Given the description of an element on the screen output the (x, y) to click on. 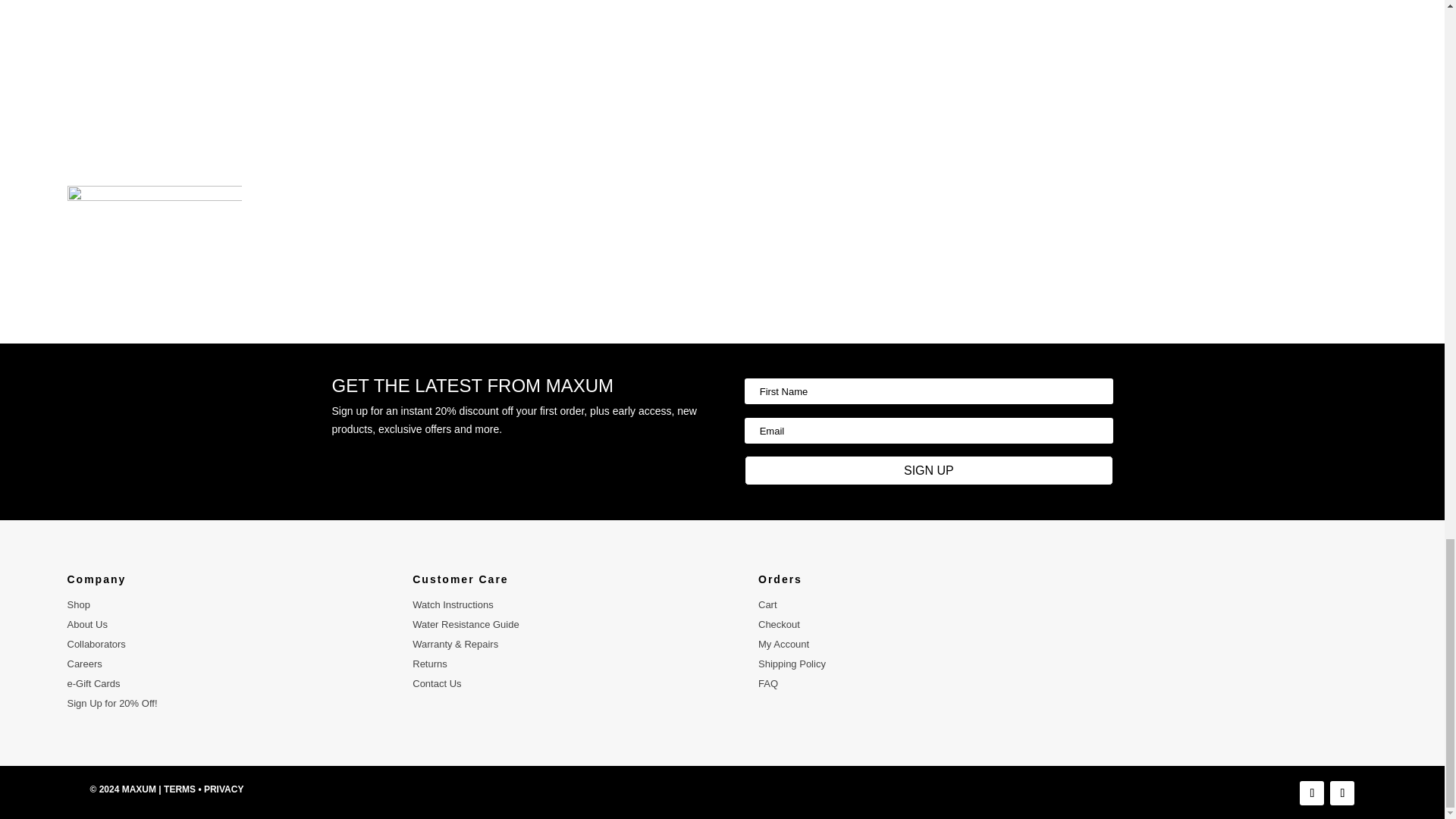
PRIVACY (223, 788)
About Us (86, 624)
Careers (83, 663)
Checkout (778, 624)
Cart (767, 604)
My Account (783, 644)
Collaborators (95, 644)
Follow on Instagram (1342, 793)
Follow on Facebook (1311, 793)
Watch Instructions (452, 604)
Shipping Policy (791, 663)
Returns (429, 663)
e-Gift Cards (92, 683)
FAQ (767, 683)
TERMS (179, 788)
